Given the description of an element on the screen output the (x, y) to click on. 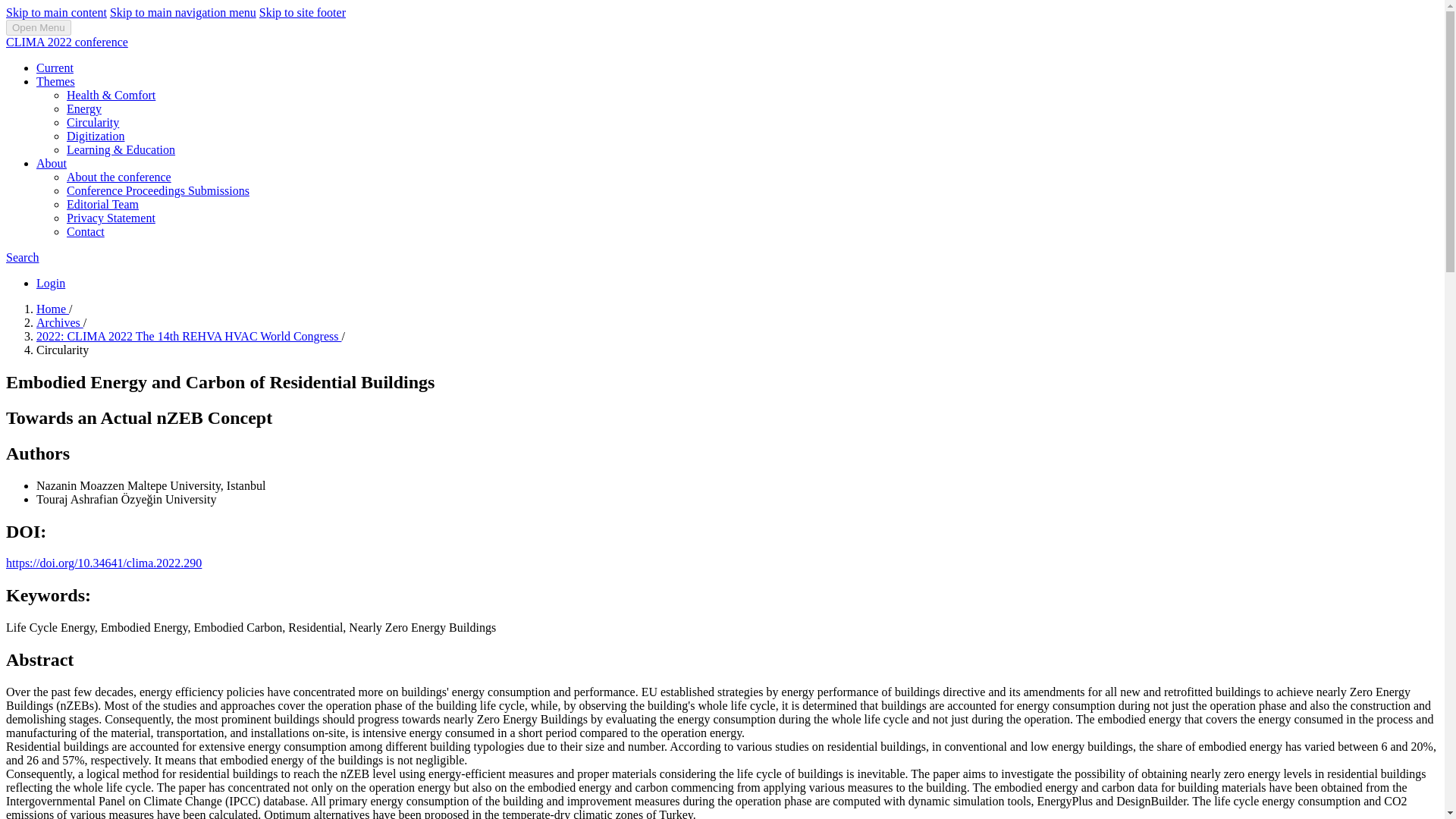
Contact (85, 231)
Open Menu (38, 27)
Current (55, 67)
Home (52, 308)
Privacy Statement (110, 217)
Digitization (94, 135)
About (51, 163)
Energy (83, 108)
Skip to site footer (302, 11)
CLIMA 2022 conference (66, 42)
Skip to main navigation menu (183, 11)
Conference Proceedings Submissions (157, 190)
Editorial Team (102, 204)
About the conference (118, 176)
Skip to main content (55, 11)
